Given the description of an element on the screen output the (x, y) to click on. 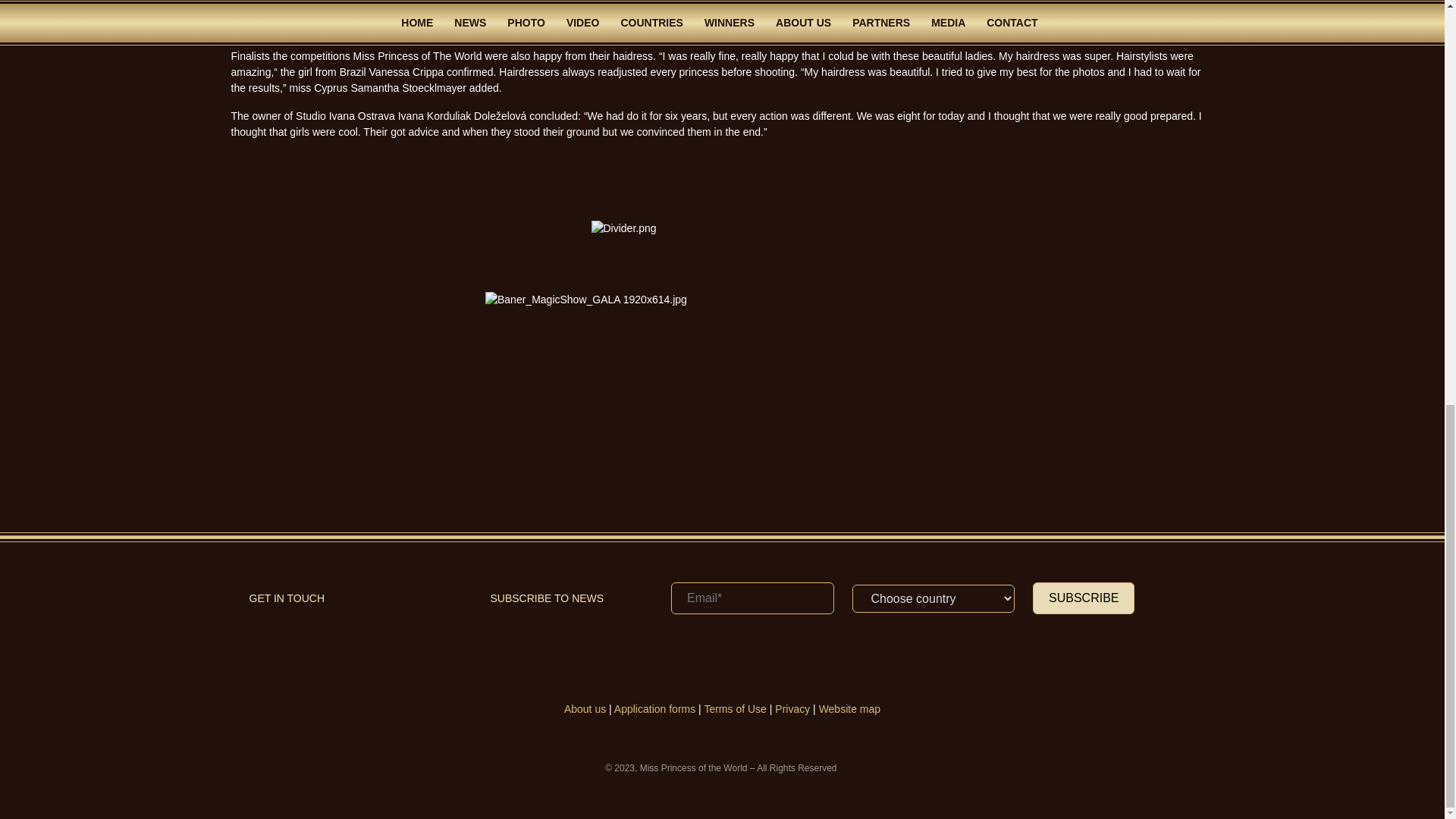
Subscribe (1083, 598)
Divider.png (722, 235)
About us (584, 708)
Website map (849, 708)
Subscribe (1083, 598)
Terms of Use (734, 708)
Privacy (791, 708)
Application forms (654, 708)
About us (584, 708)
